Given the description of an element on the screen output the (x, y) to click on. 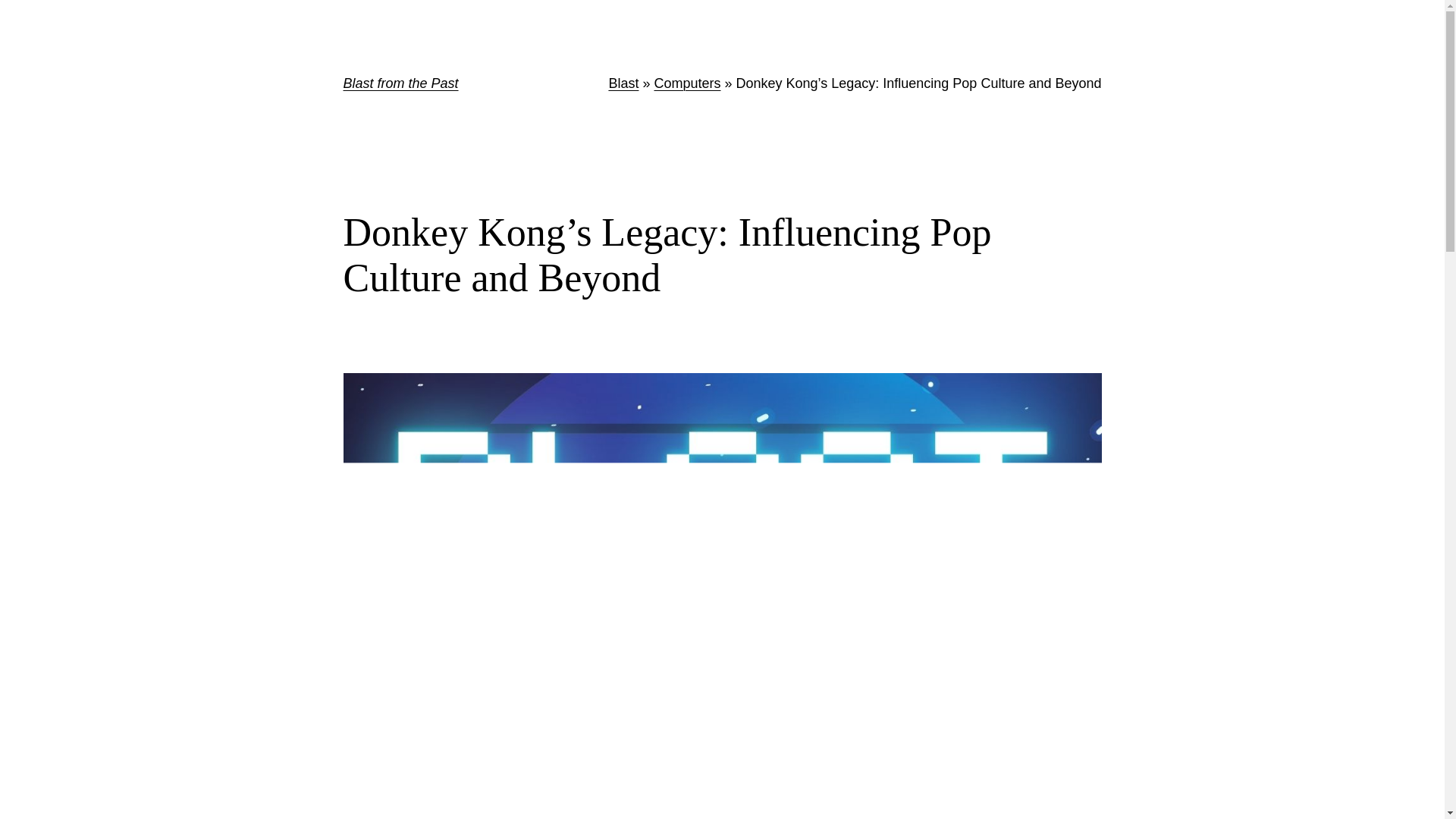
Computers (686, 83)
Blast (623, 83)
Blast from the Past (400, 83)
